Given the description of an element on the screen output the (x, y) to click on. 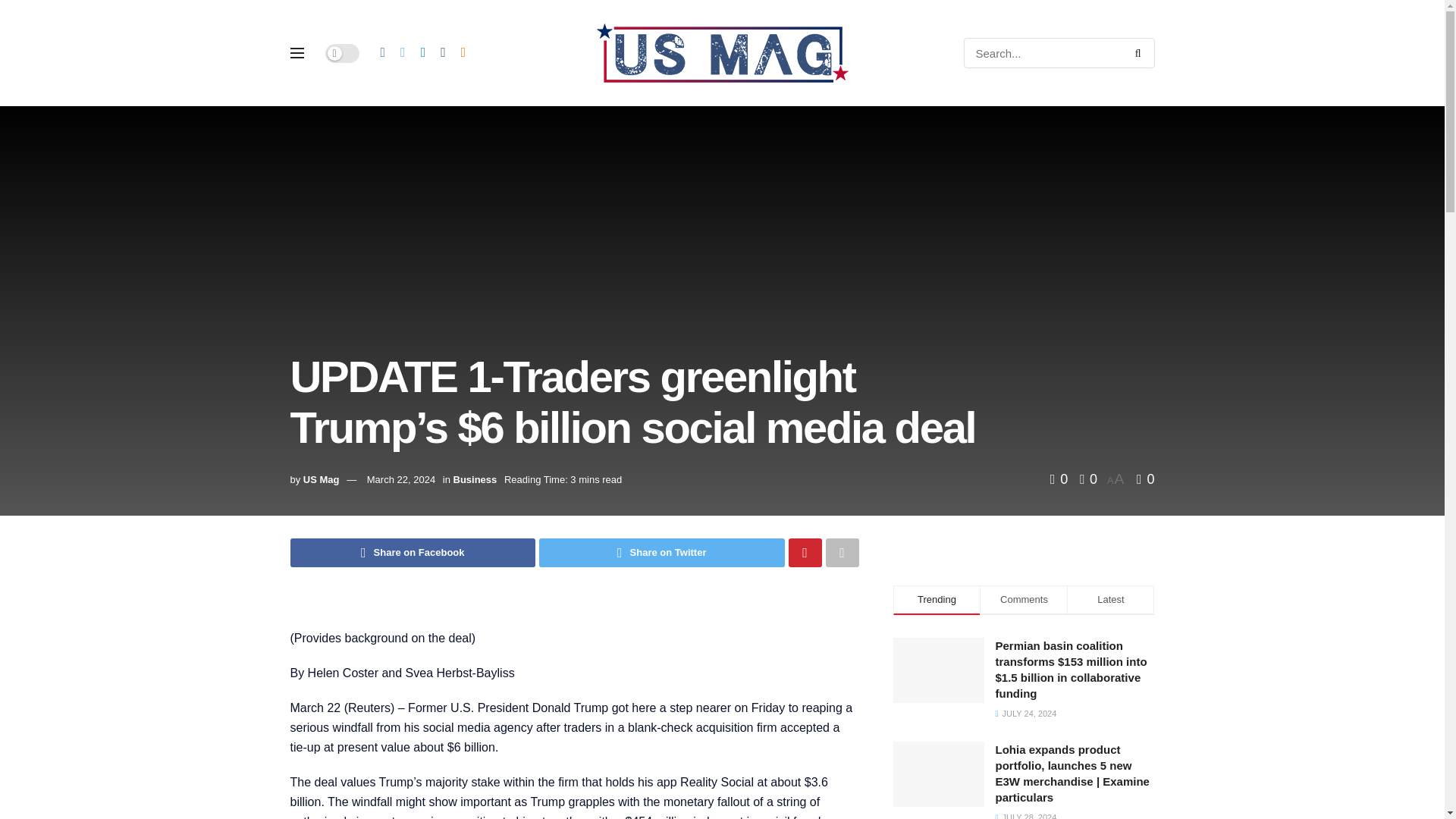
0 (1145, 478)
US Mag (320, 479)
0 (1060, 478)
Share on Twitter (661, 552)
0 (1084, 478)
Business (474, 479)
March 22, 2024 (400, 479)
Share on Facebook (412, 552)
